Given the description of an element on the screen output the (x, y) to click on. 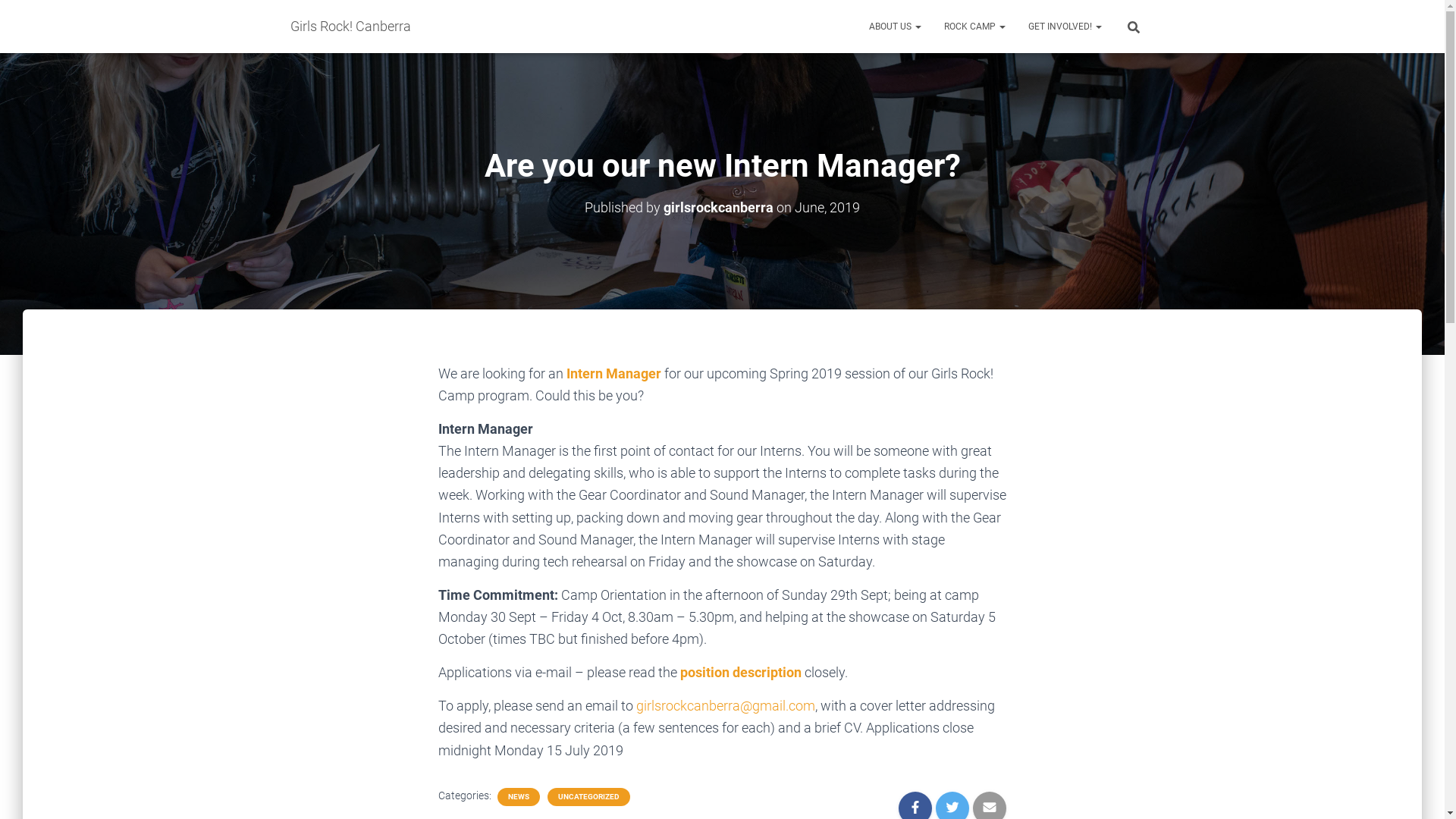
Intern Manager  Element type: text (614, 373)
girlsrockcanberra@gmail.com Element type: text (724, 705)
Girls Rock! Canberra Element type: text (350, 26)
NEWS Element type: text (518, 796)
position  Element type: text (705, 672)
ABOUT US Element type: text (893, 26)
girlsrockcanberra Element type: text (718, 207)
Search Element type: text (3, 16)
description Element type: text (766, 672)
UNCATEGORIZED Element type: text (588, 796)
ROCK CAMP Element type: text (974, 26)
GET INVOLVED! Element type: text (1064, 26)
